Given the description of an element on the screen output the (x, y) to click on. 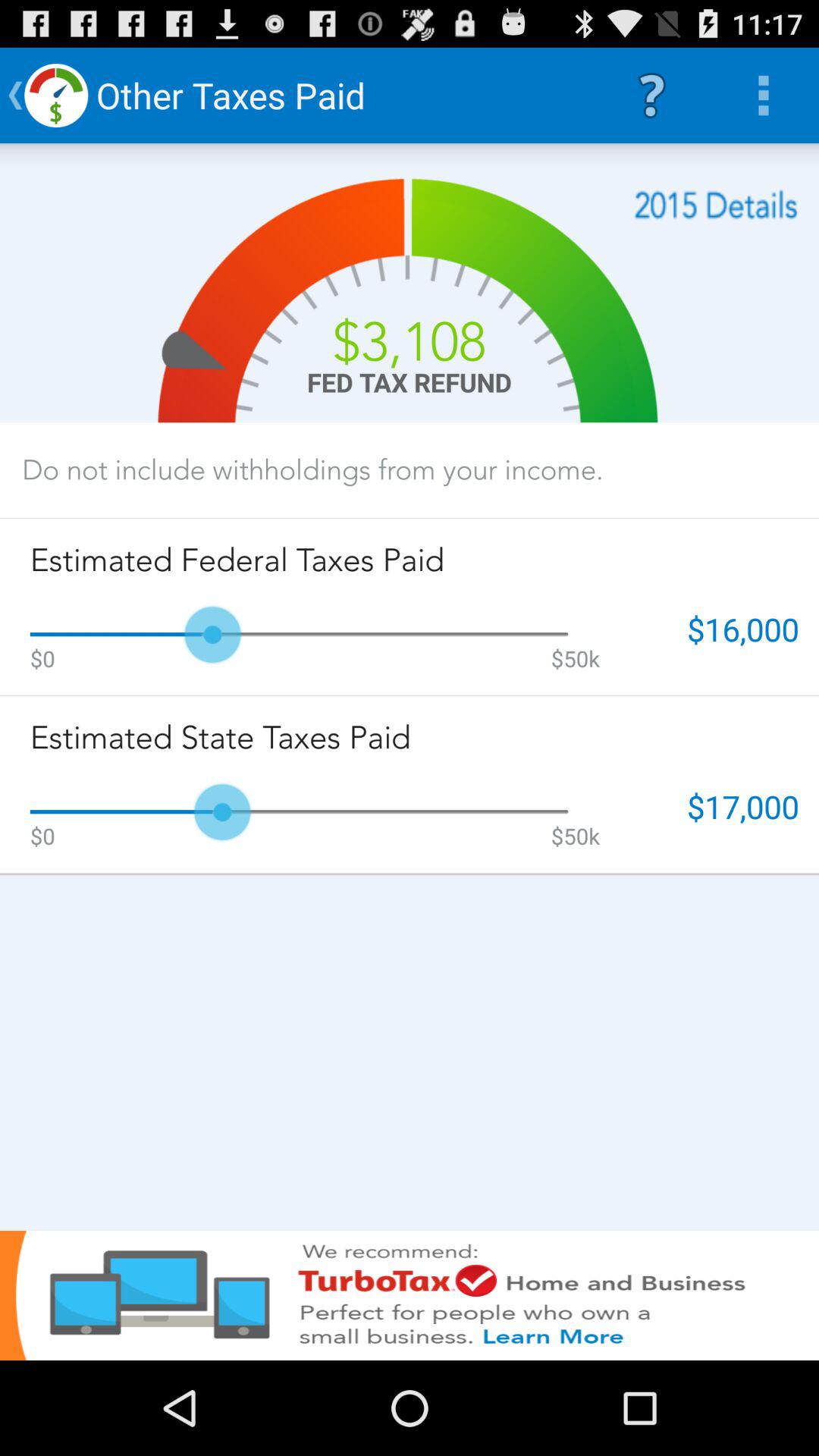
total data (715, 204)
